Given the description of an element on the screen output the (x, y) to click on. 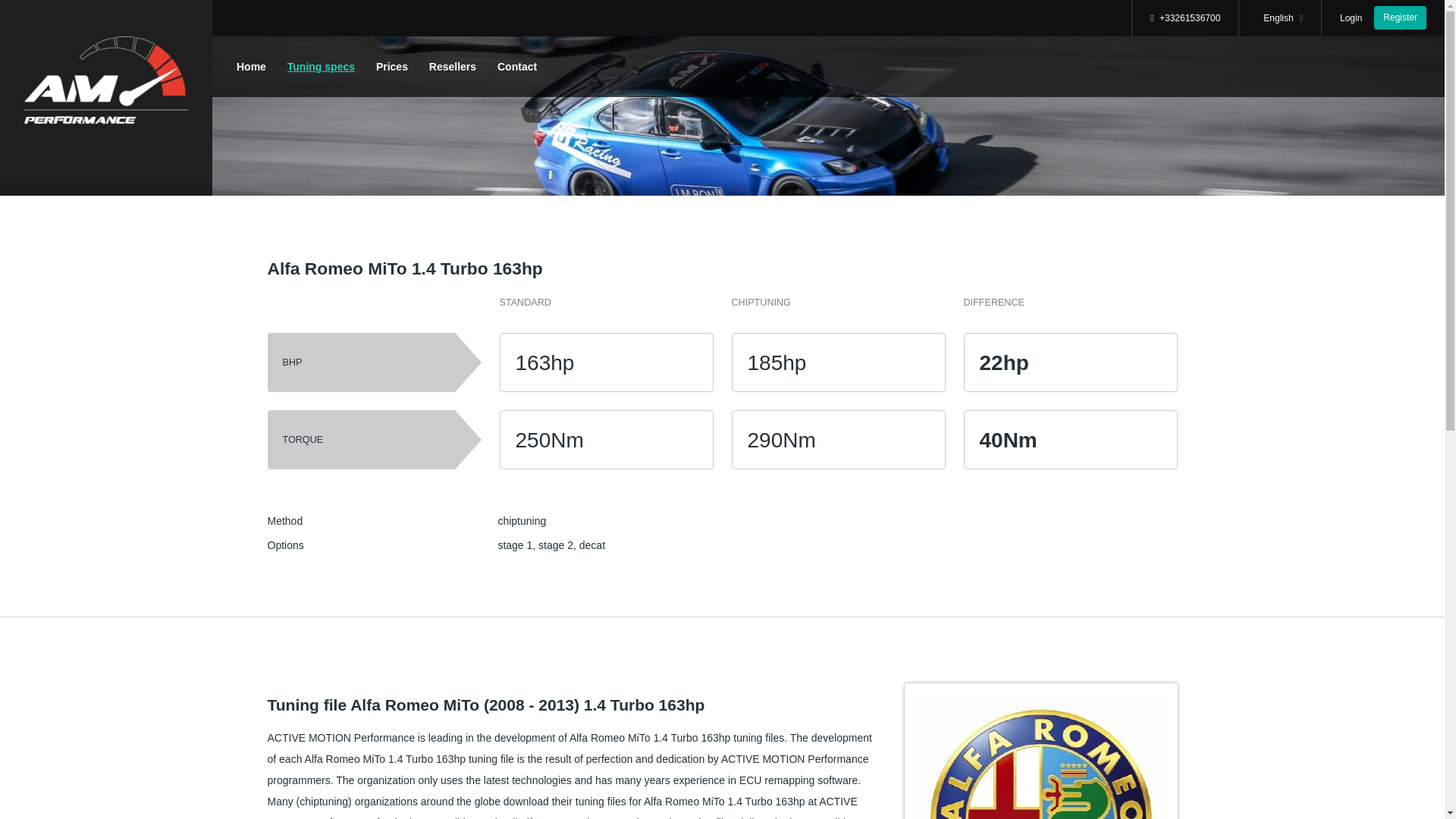
Login (1350, 17)
Resellers (452, 66)
Register (1400, 17)
Contact (517, 66)
Resellers (452, 66)
Contact (517, 66)
ACTIVE MOTION Performance (105, 84)
Register (1400, 17)
Tuning specs (320, 66)
Login (1350, 17)
Tuning specs (320, 66)
